Given the description of an element on the screen output the (x, y) to click on. 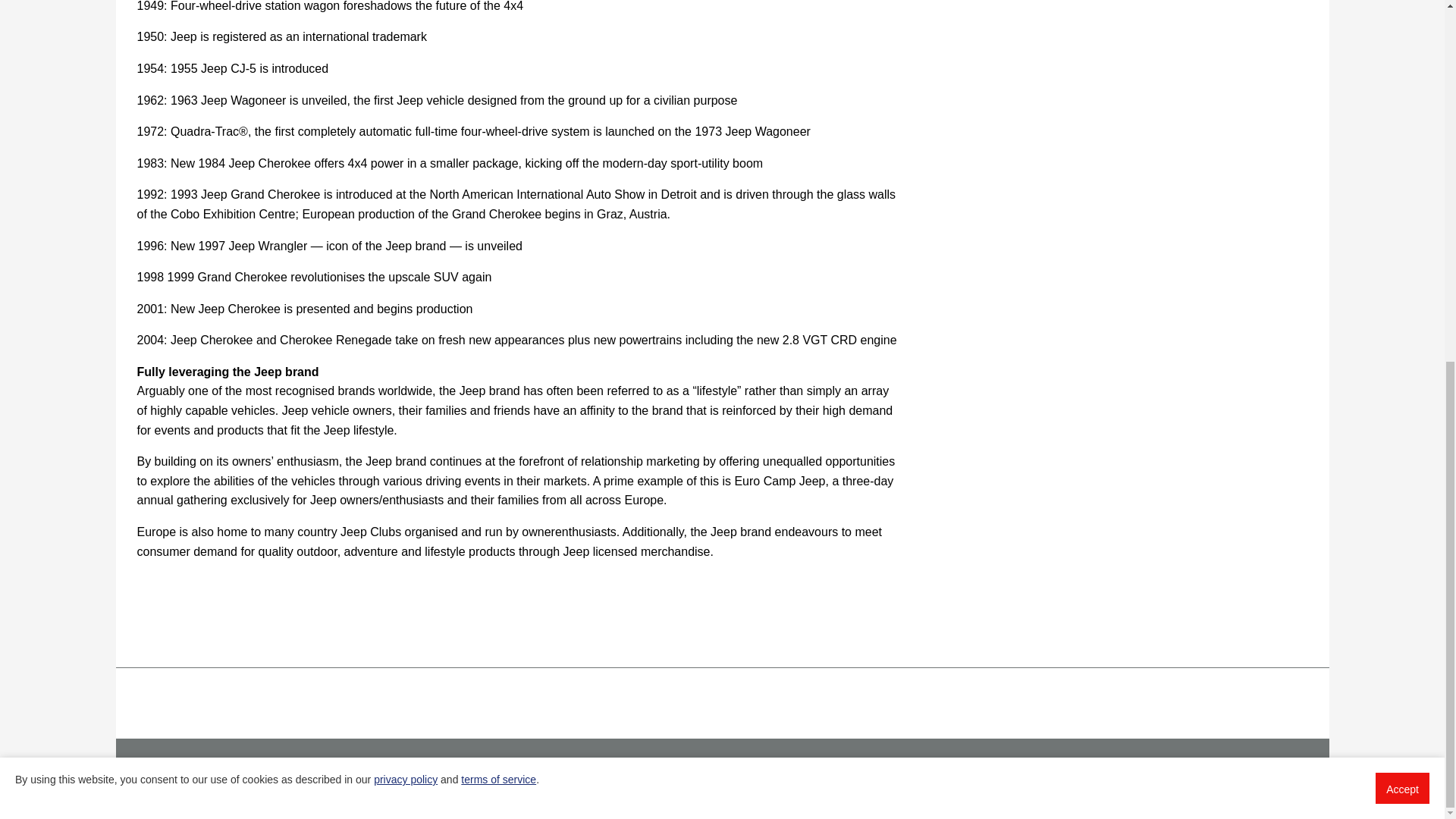
Fiat (699, 695)
SRT (952, 691)
Jeep (750, 691)
Mopar (899, 695)
Chrysler (544, 691)
Dodge (632, 691)
Peugeot (803, 696)
Alfa Romeo (472, 697)
Ram (853, 696)
